Given the description of an element on the screen output the (x, y) to click on. 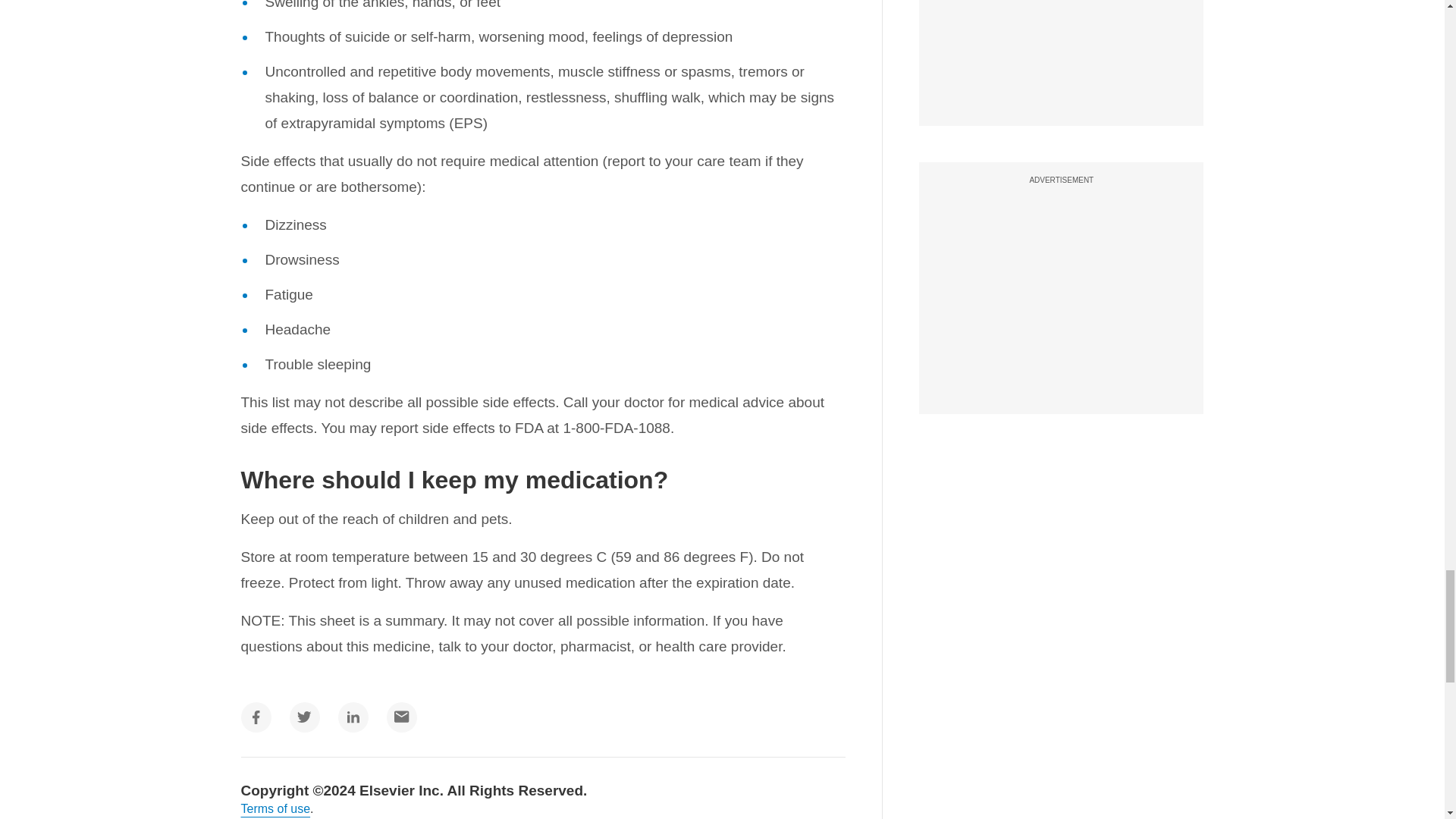
Terms of use (276, 808)
